Given the description of an element on the screen output the (x, y) to click on. 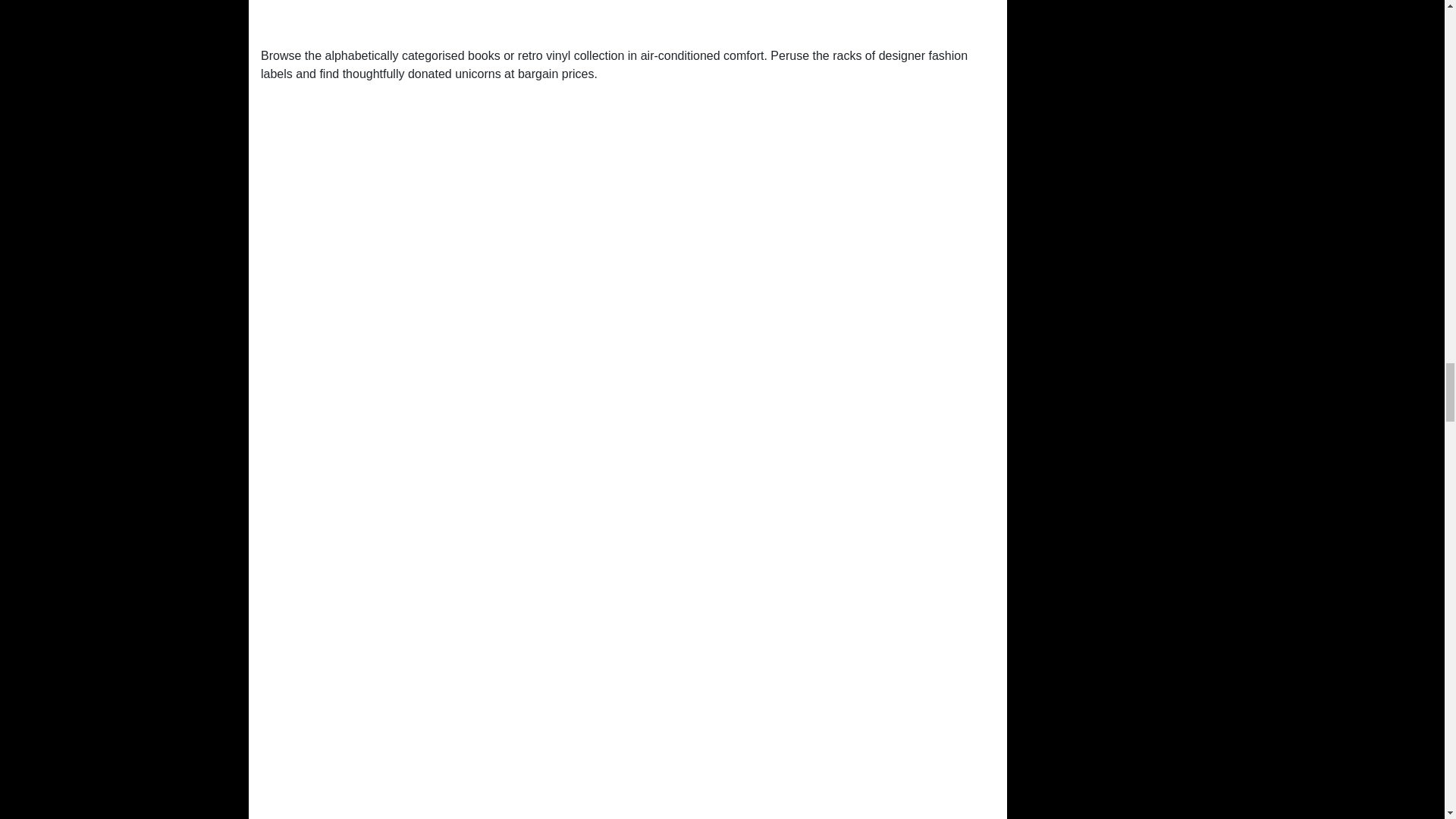
Vinnies Op Shop, Tugun (627, 17)
